Given the description of an element on the screen output the (x, y) to click on. 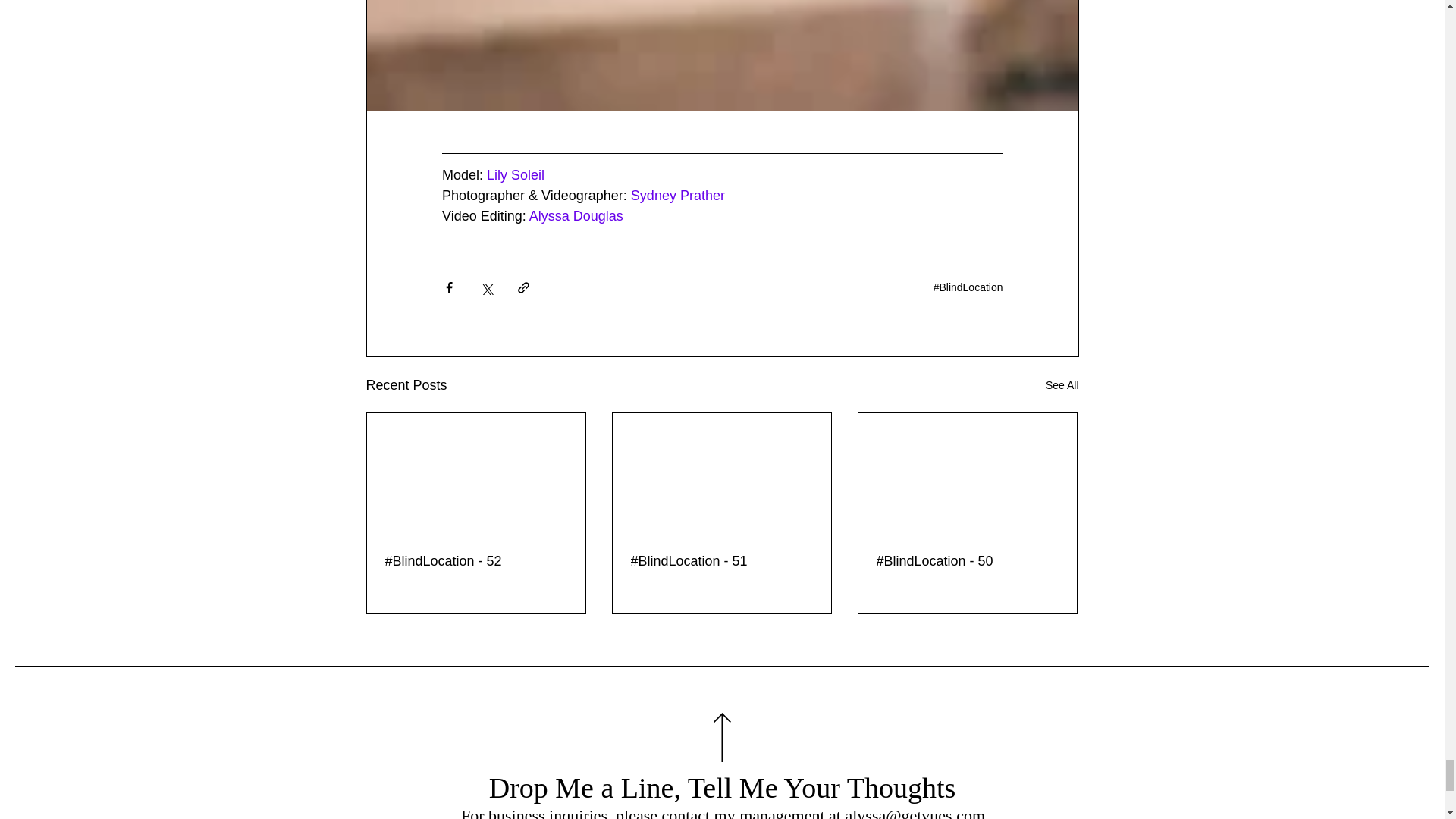
 Lily Soleil (513, 174)
Sydney Prather (676, 195)
Alyssa Douglas (575, 215)
See All (1061, 385)
